Given the description of an element on the screen output the (x, y) to click on. 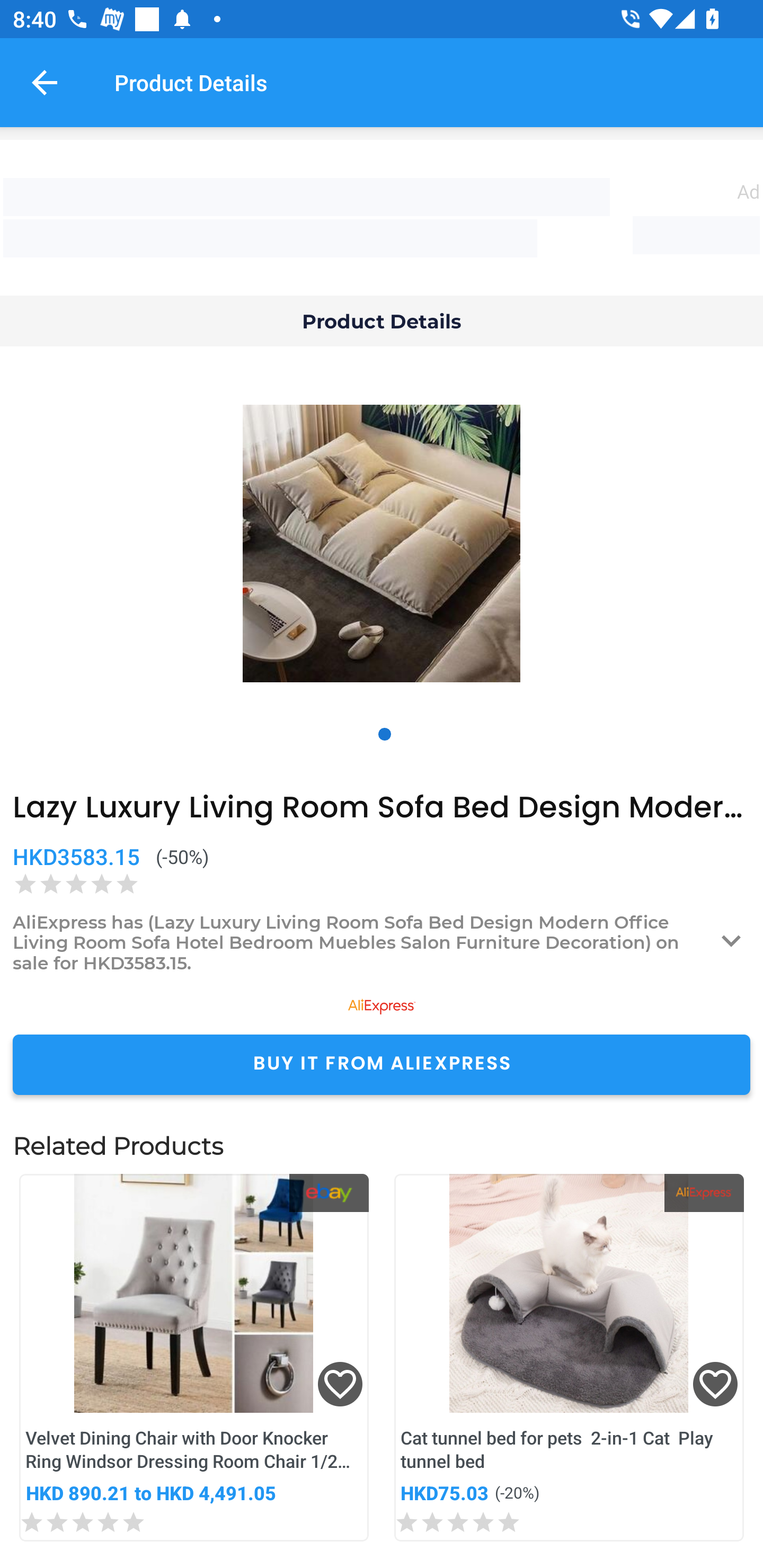
Navigate up (44, 82)
BUY IT FROM ALIEXPRESS (381, 1064)
